Given the description of an element on the screen output the (x, y) to click on. 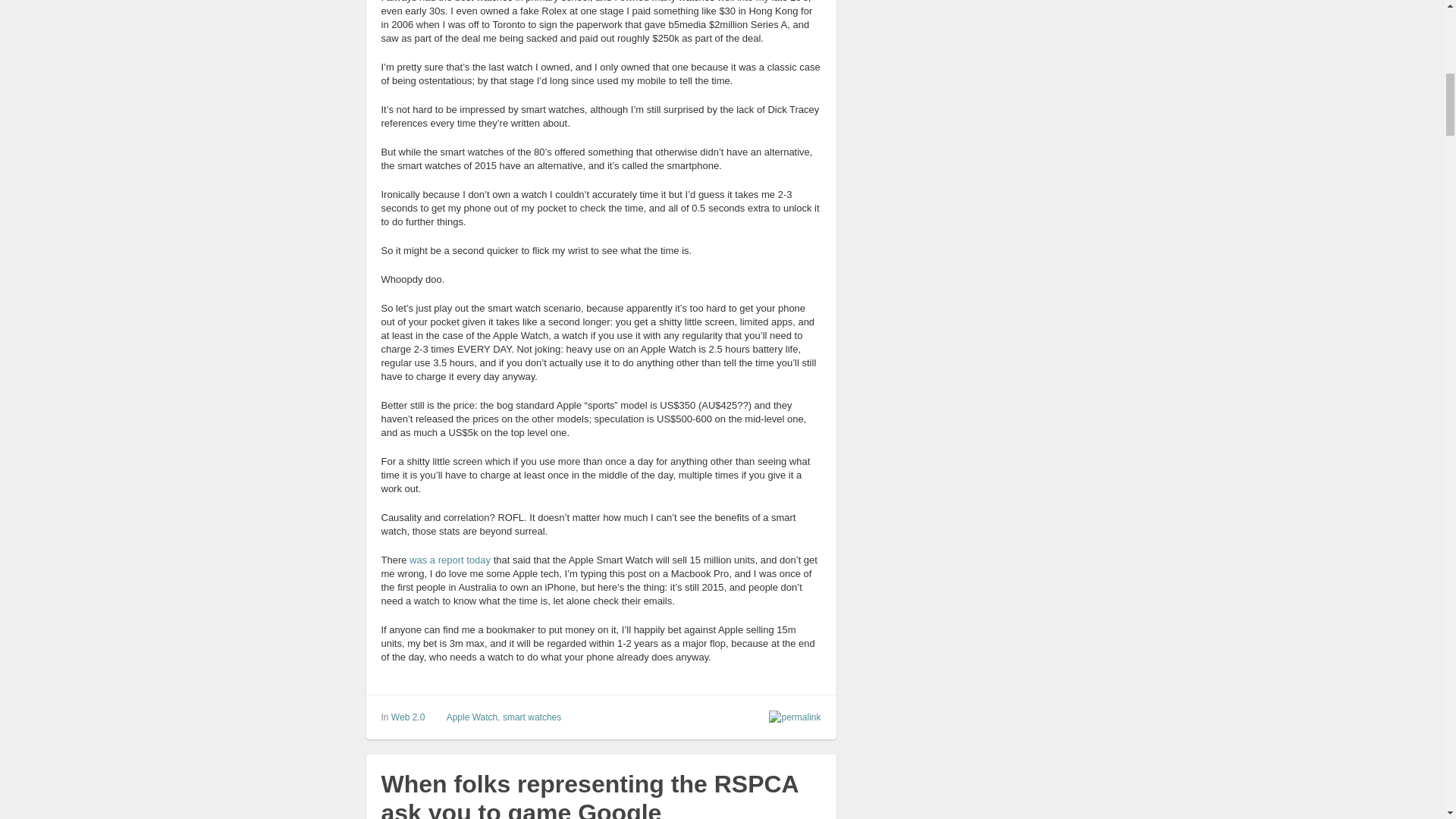
smart watches (531, 716)
permalink  (791, 716)
Web 2.0 (408, 716)
When folks representing the RSPCA ask you to game Google (588, 794)
was a report today (449, 559)
When folks representing the RSPCA ask you to game Google (588, 794)
Apple Watch (471, 716)
